Given the description of an element on the screen output the (x, y) to click on. 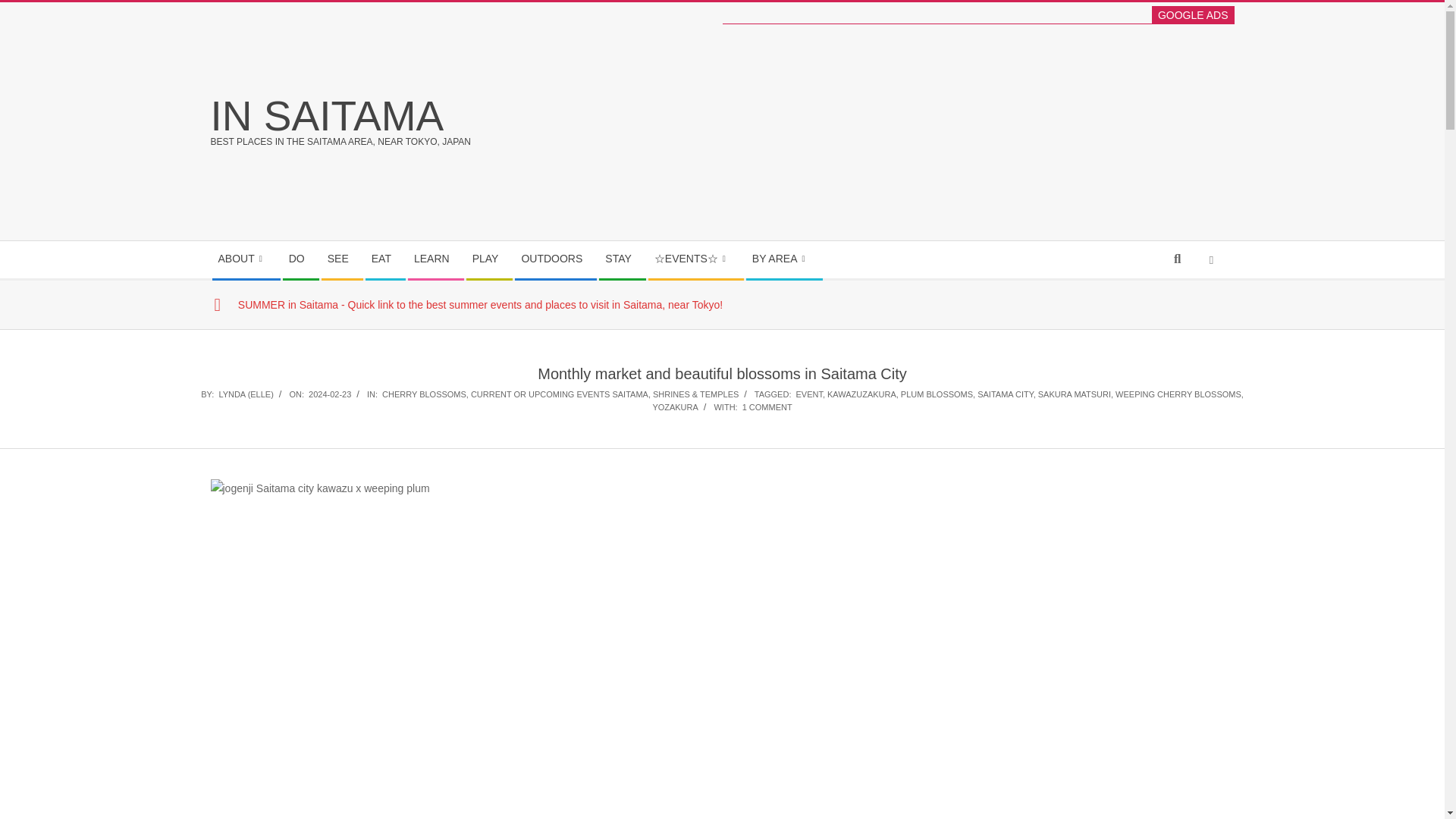
DO (300, 259)
Friday, February 23, 2024, 6:55 pm (329, 393)
LEARN (435, 259)
SEE (342, 259)
OUTDOORS (554, 259)
Advertisement (1000, 130)
ABOUT (246, 259)
EAT (385, 259)
STAY (621, 259)
IN SAITAMA (327, 115)
PLAY (488, 259)
BY AREA (784, 259)
